Given the description of an element on the screen output the (x, y) to click on. 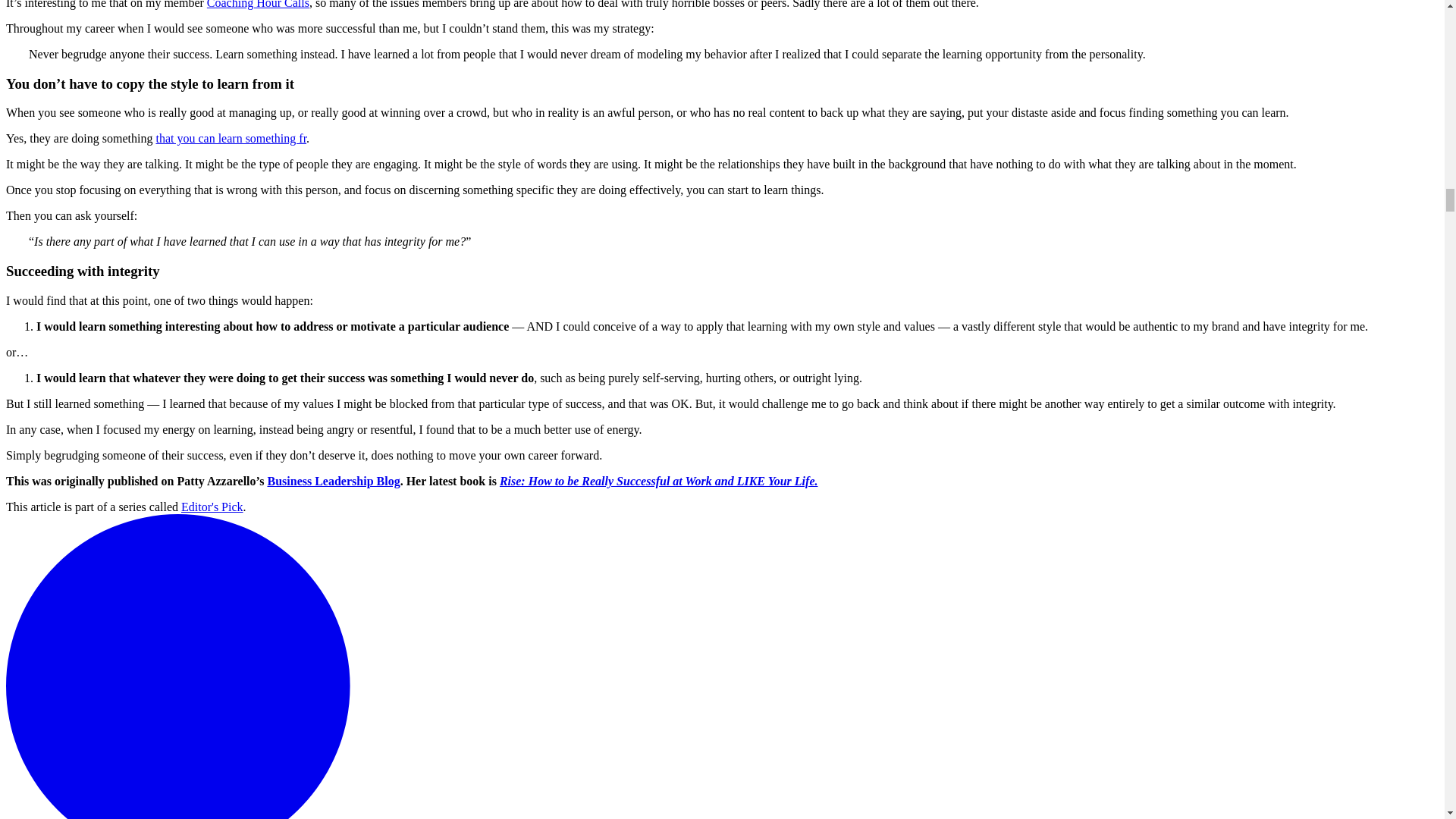
Editor's Pick (211, 506)
that you can learn something fr (230, 137)
Coaching Hour Calls (257, 4)
Business Leadership Blog (332, 481)
